Given the description of an element on the screen output the (x, y) to click on. 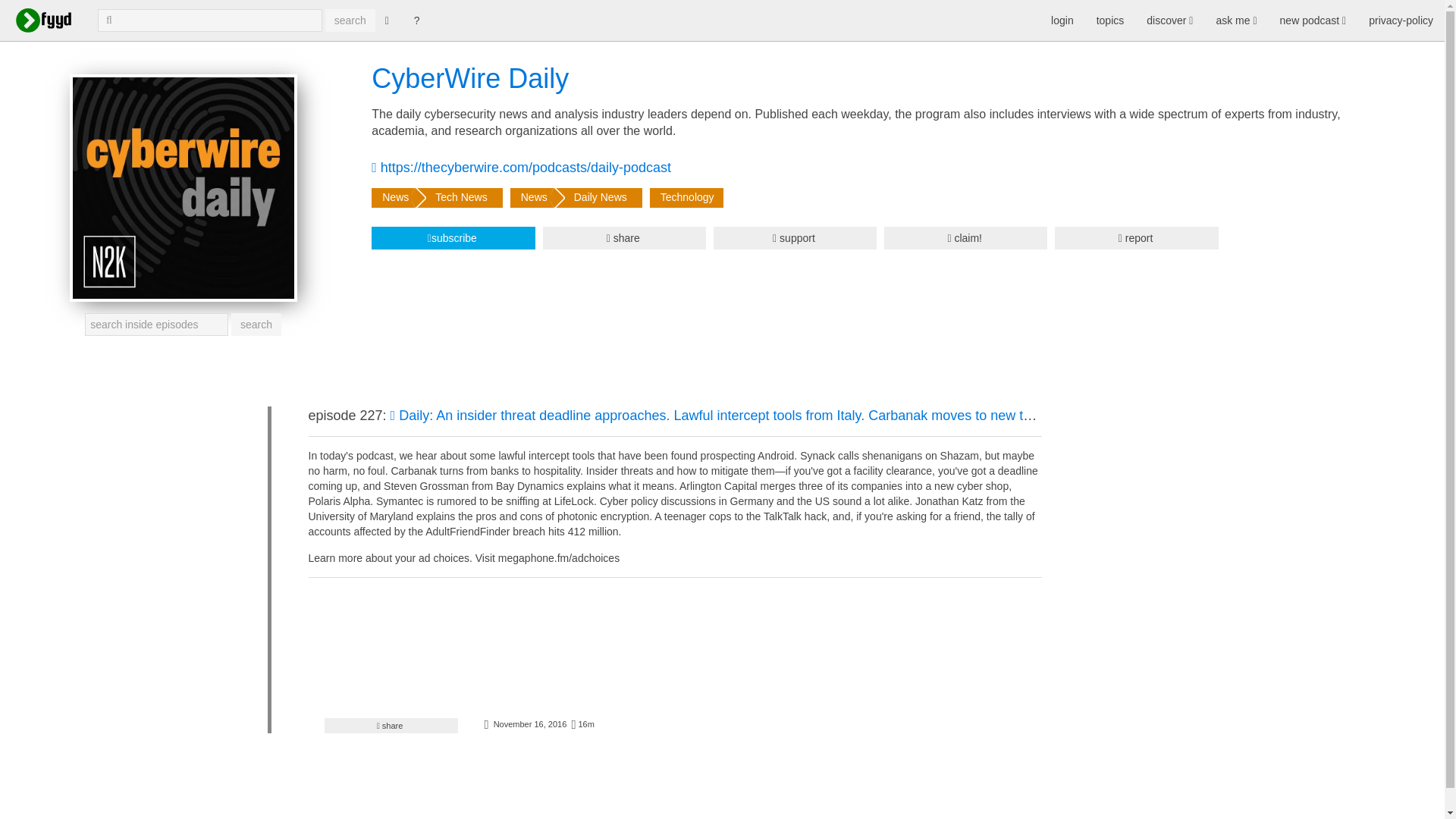
importiert :29.01.2017 18:20 (529, 723)
ask me (1236, 20)
topics (1109, 20)
discover (1169, 20)
search (349, 20)
login (1061, 20)
new podcast (1313, 20)
? (416, 20)
